Given the description of an element on the screen output the (x, y) to click on. 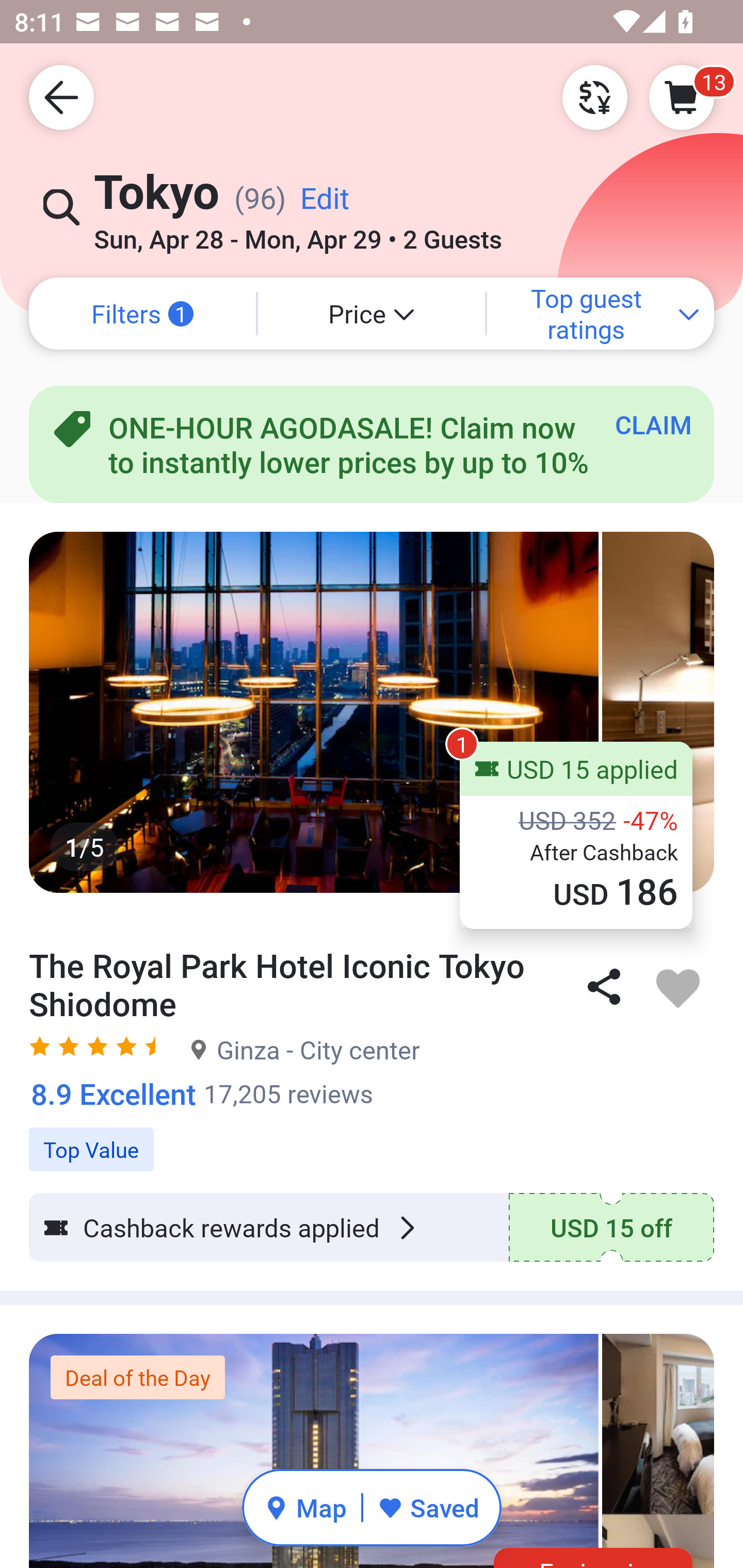
Filters 1 (141, 313)
Price (371, 313)
Top guest ratings (600, 313)
CLAIM (653, 424)
1/5 (371, 711)
Top Value (371, 1139)
Cashback rewards applied USD 15 off (371, 1227)
Deal of the Day (137, 1377)
Map (305, 1507)
Saved (428, 1507)
